Given the description of an element on the screen output the (x, y) to click on. 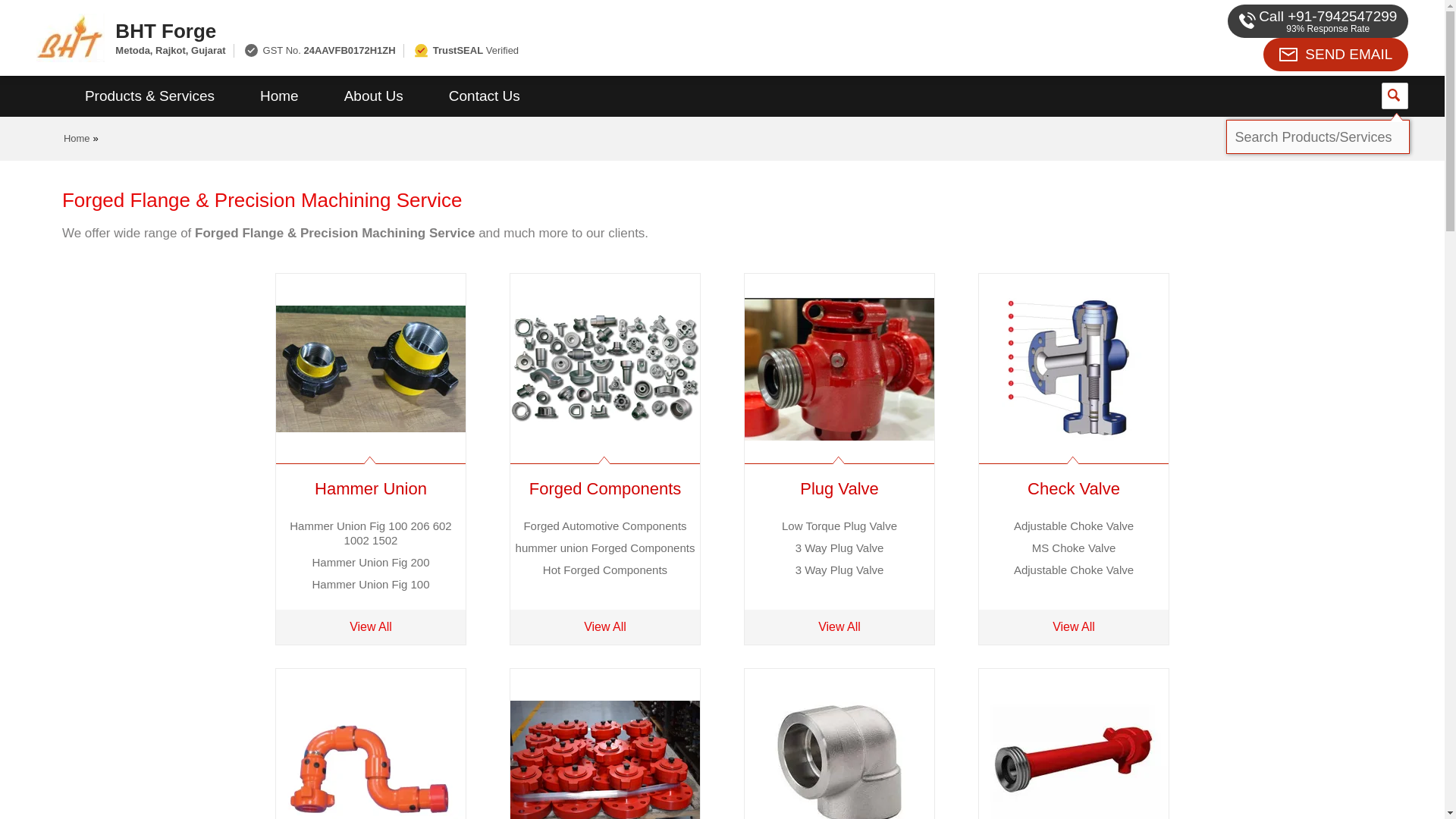
Home (77, 138)
Hammer Union Fig 100 (370, 584)
View All (370, 626)
Low Torque Plug Valve (838, 525)
Hammer Union Fig 100 206 602 1002 1502 (370, 533)
hummer union Forged Components (605, 547)
Forged Automotive Components (603, 525)
Contact Us (484, 96)
Plug Valve (839, 488)
Forged Components (605, 488)
